Given the description of an element on the screen output the (x, y) to click on. 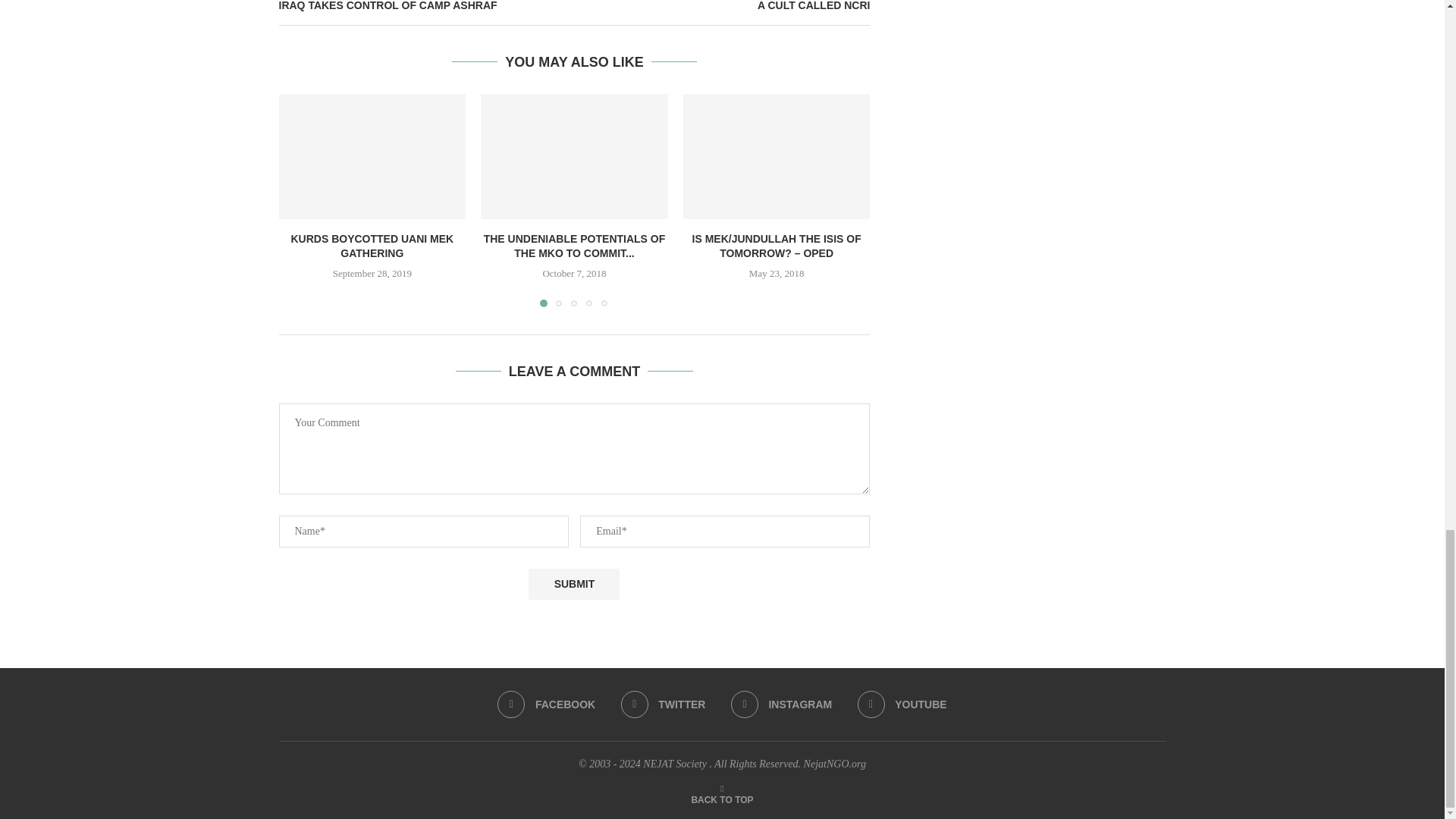
The Undeniable Potentials of the MKO to Commit Terrorism (574, 156)
Submit (574, 583)
Kurds Boycotted UANI MEK Gathering (372, 156)
